Given the description of an element on the screen output the (x, y) to click on. 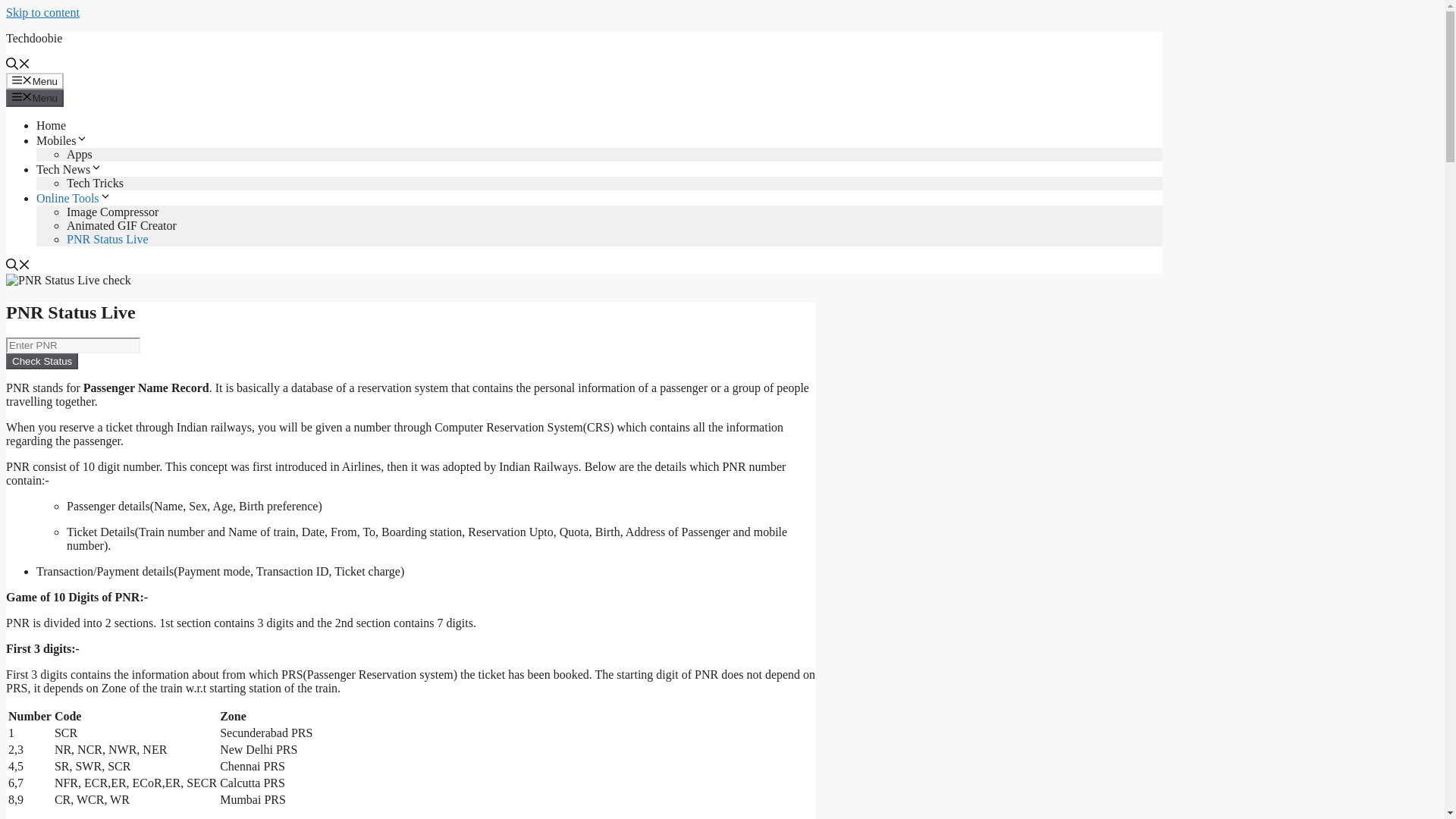
Techdoobie (33, 38)
Check Status (41, 360)
Image Compressor (112, 211)
Animated GIF Creator (121, 225)
Menu (34, 97)
Menu (34, 80)
Home (50, 124)
Apps (79, 154)
Online Tools (74, 197)
Mobiles (61, 140)
PNR Status Live (107, 238)
Skip to content (42, 11)
Tech News (68, 169)
Skip to content (42, 11)
Tech Tricks (94, 182)
